Given the description of an element on the screen output the (x, y) to click on. 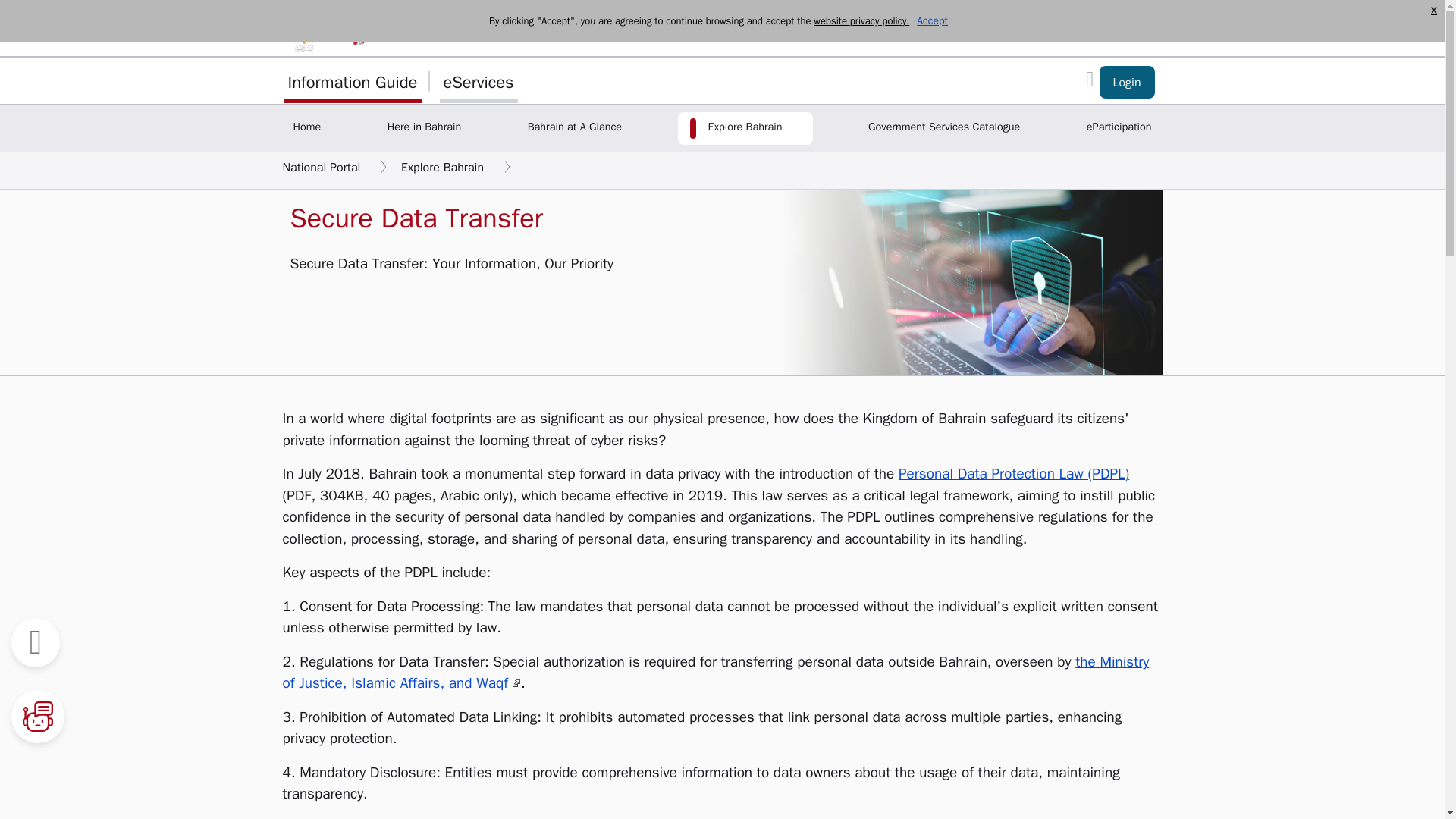
National Portal (320, 167)
Checkout our newly added features (1126, 82)
Home (306, 128)
Login (1126, 82)
Arabic (1123, 27)
Information Guide (352, 80)
Here in Bahrain (424, 128)
Explore Bahrain (745, 128)
Government Services Catalogue (943, 128)
the Ministry of Justice, Islamic Affairs, and Waqf (715, 672)
Bahrain at A Glance (573, 128)
National Portal Home Page (306, 128)
Bahrain at A Glance (573, 128)
eParticipation (1118, 128)
Here in Bahrain (424, 128)
